Given the description of an element on the screen output the (x, y) to click on. 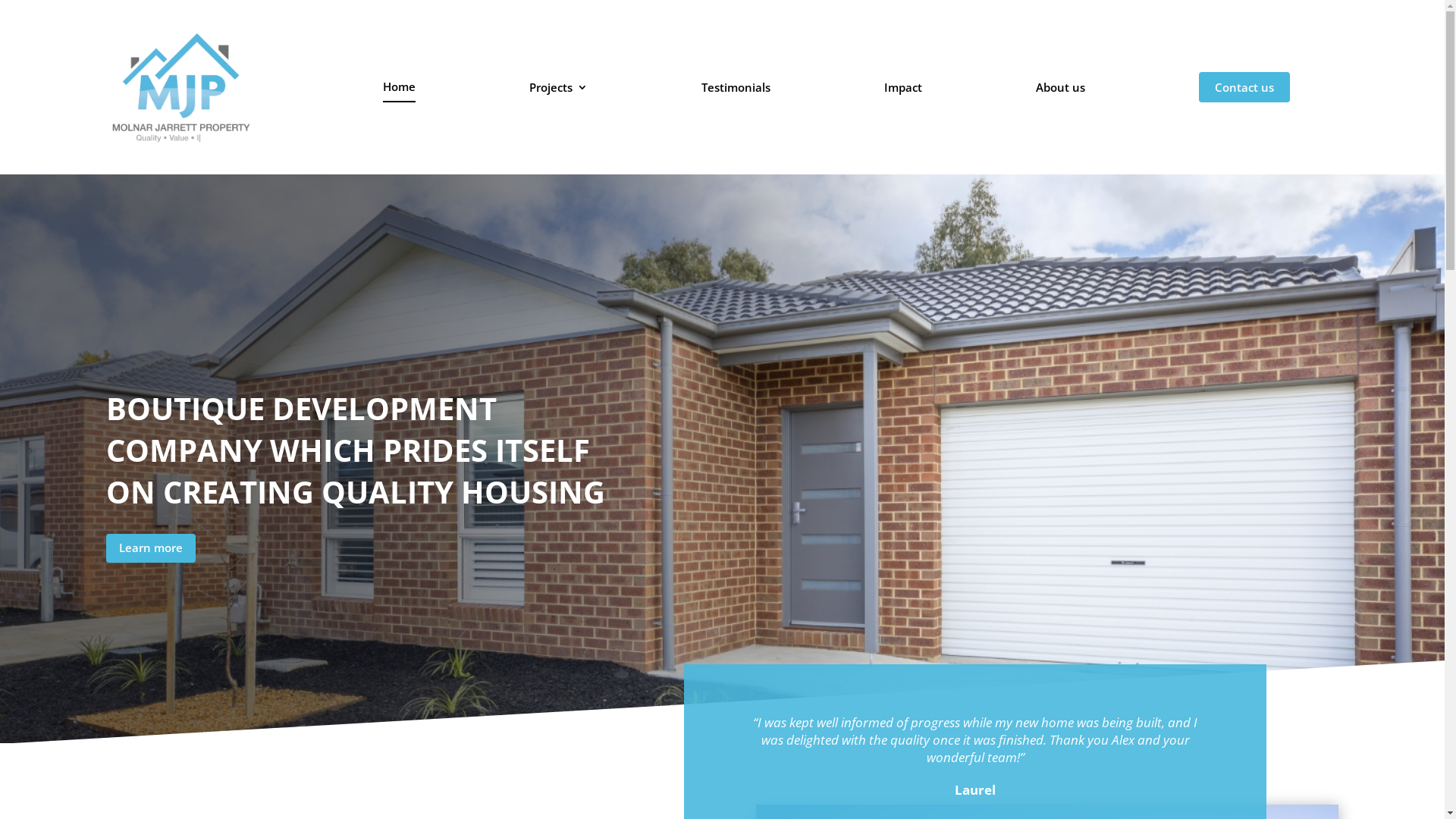
About us Element type: text (1060, 87)
Testimonials Element type: text (735, 87)
Projects Element type: text (558, 87)
Learn more Element type: text (150, 548)
Contact us Element type: text (1243, 87)
Home Element type: text (398, 87)
Impact Element type: text (903, 87)
